Given the description of an element on the screen output the (x, y) to click on. 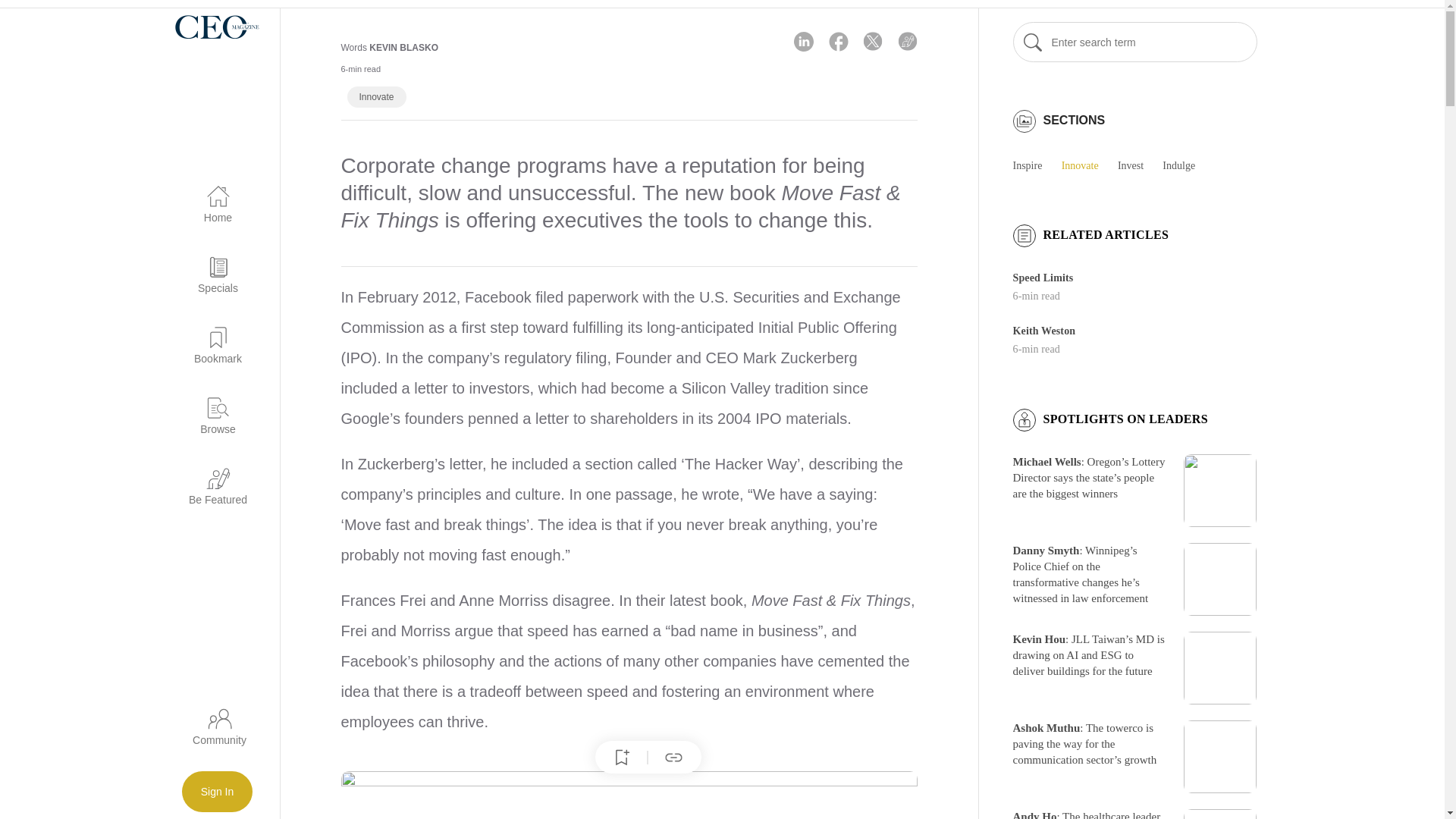
Bookmark (209, 336)
Specials (209, 266)
Innovate (376, 96)
Innovate (376, 96)
Browse (209, 406)
Home (209, 195)
Community (218, 730)
Sign In (217, 791)
Be Featured (209, 477)
